Given the description of an element on the screen output the (x, y) to click on. 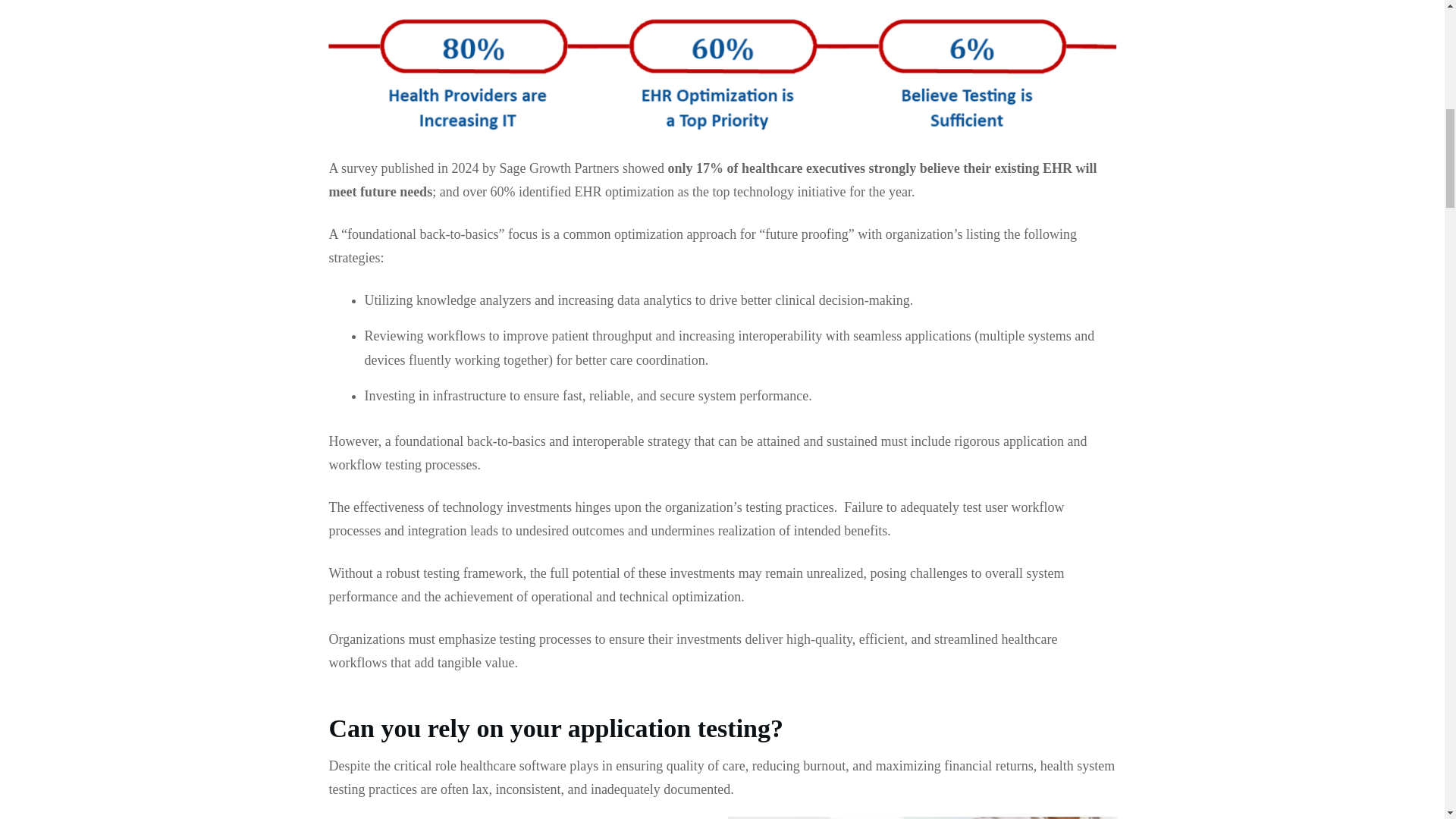
Why improve testing percentage reasons (721, 78)
